Given the description of an element on the screen output the (x, y) to click on. 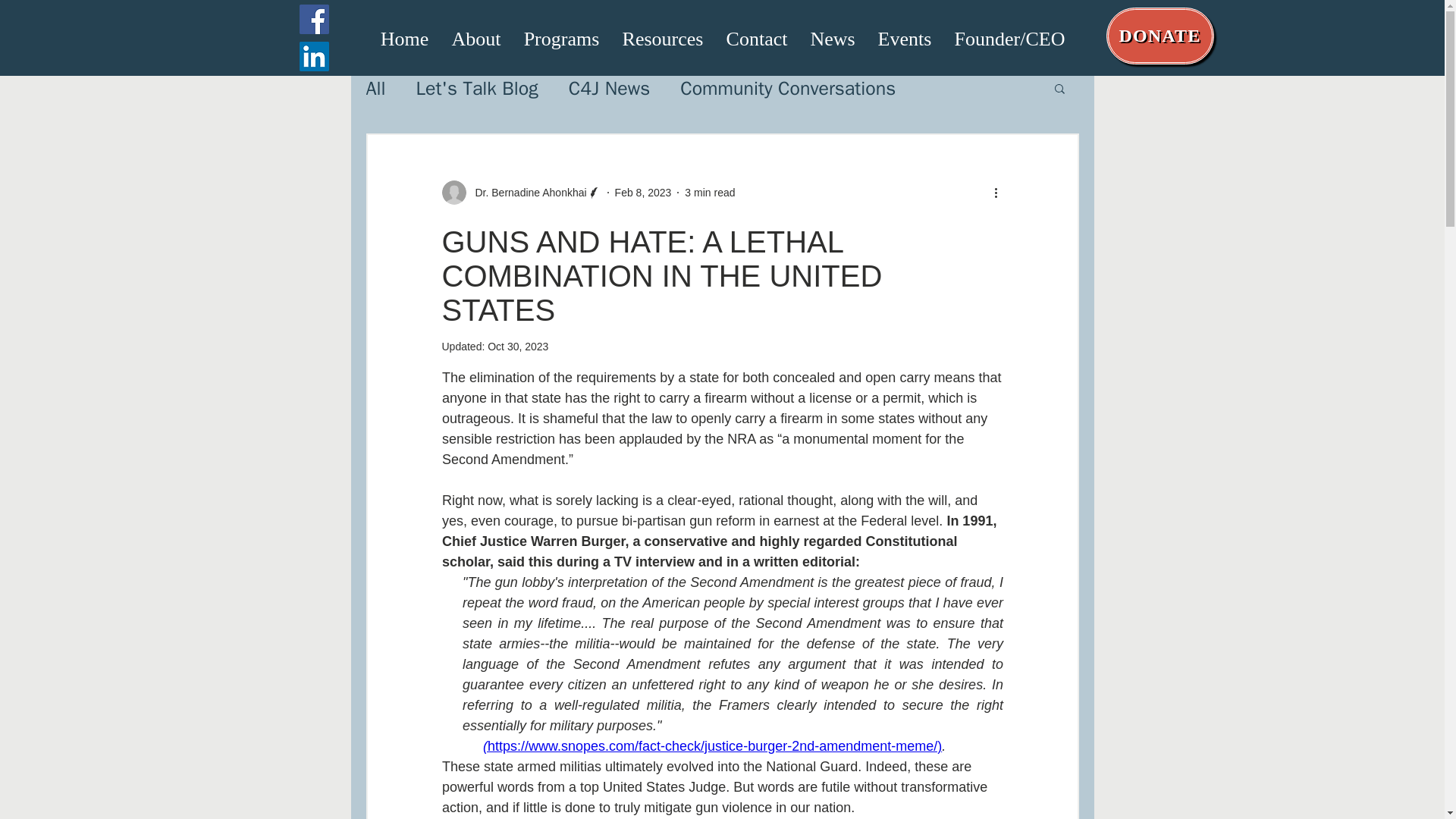
Programs (561, 37)
Oct 30, 2023 (517, 346)
Resources (662, 37)
Contact (755, 37)
Feb 8, 2023 (642, 192)
3 min read (709, 192)
Community Conversations (787, 88)
C4J News (609, 88)
Events (904, 37)
DONATE (1158, 35)
